Given the description of an element on the screen output the (x, y) to click on. 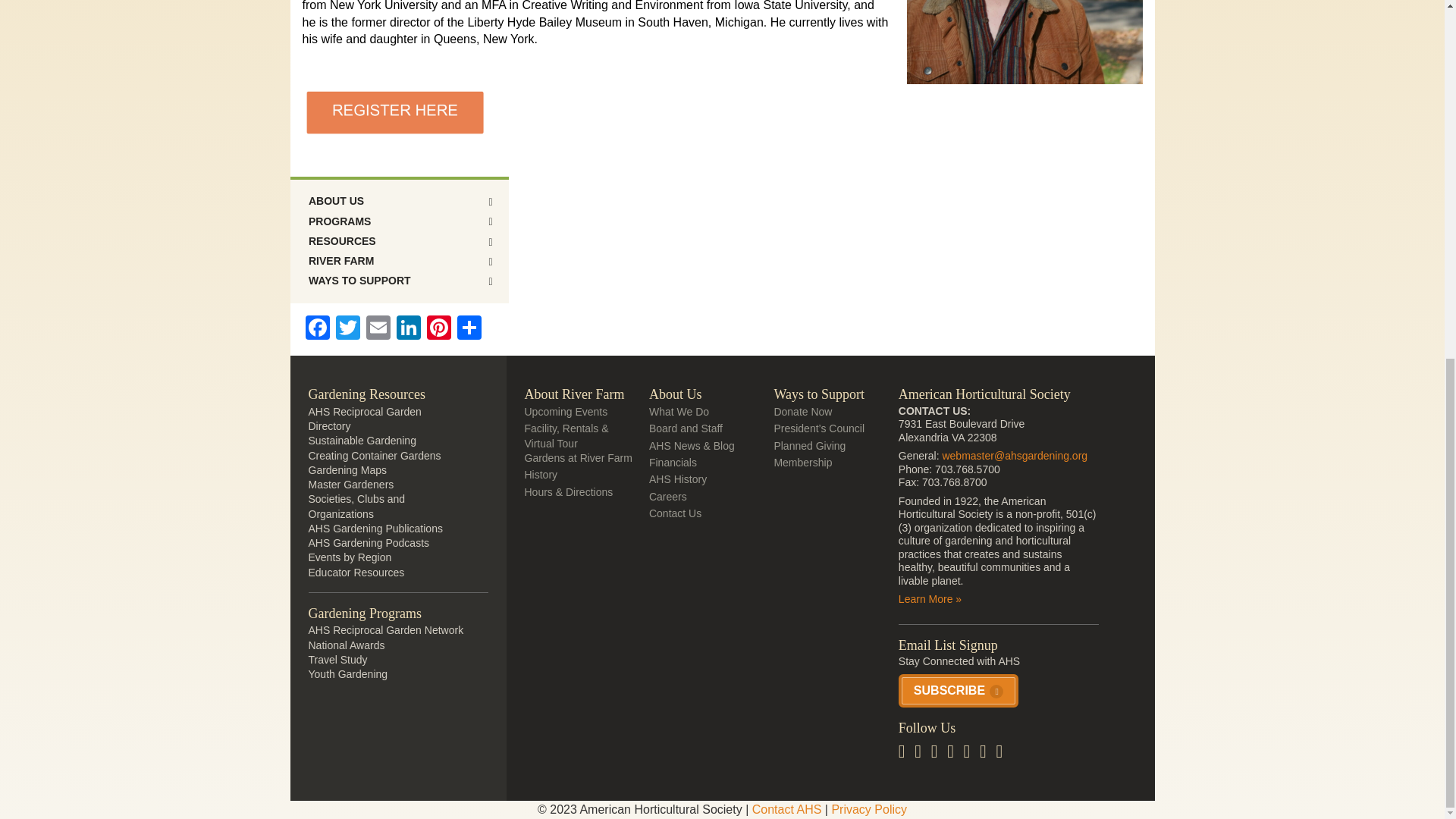
Facebook (316, 329)
LinkedIn (408, 329)
Twitter (346, 329)
Pinterest (437, 329)
Email (377, 329)
